Given the description of an element on the screen output the (x, y) to click on. 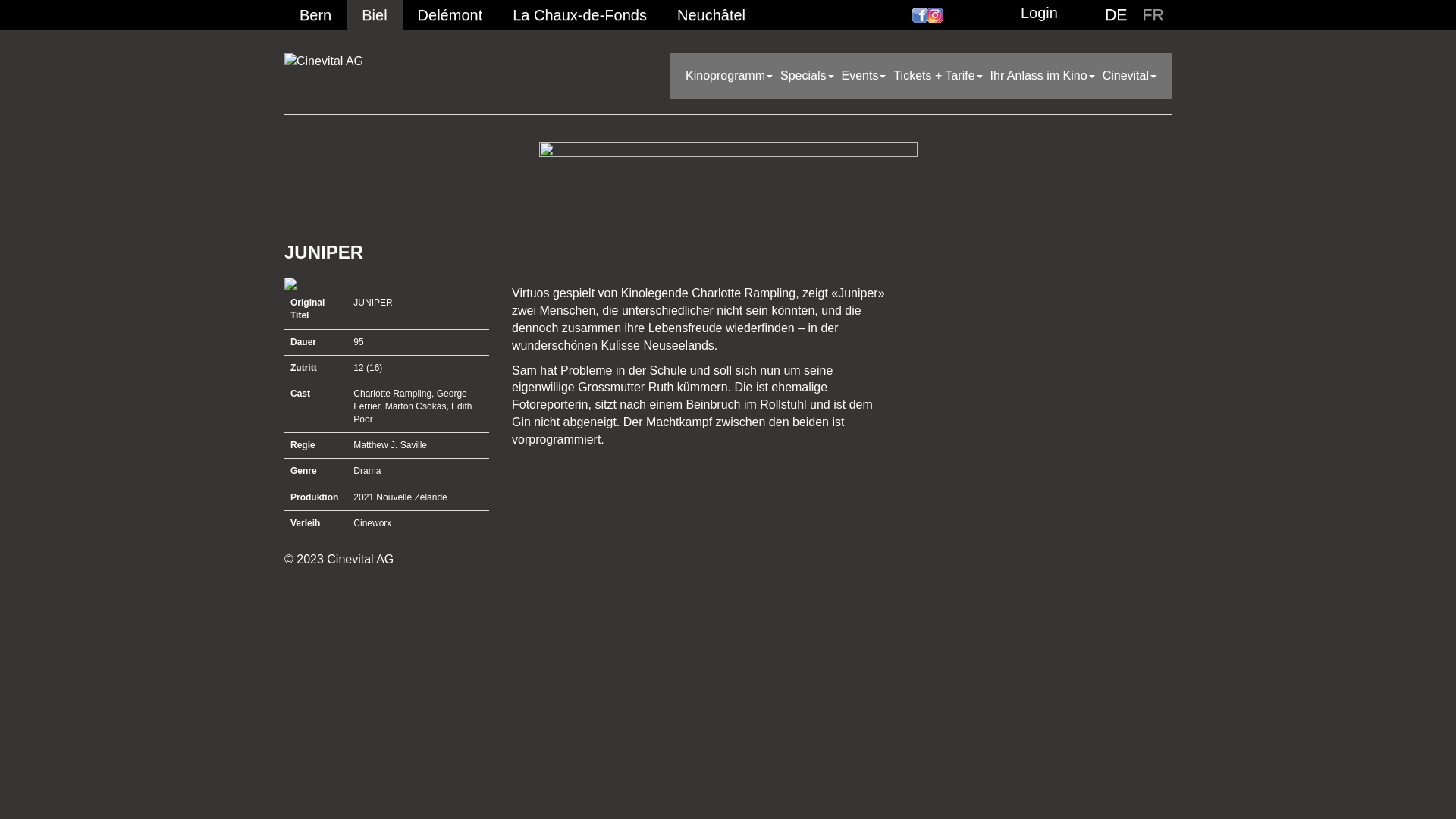
Tickets + Tarife Element type: text (937, 75)
Events Element type: text (863, 75)
La Chaux-de-Fonds Element type: text (579, 15)
Login Element type: text (1038, 13)
FR Element type: text (1153, 15)
Bern Element type: text (315, 15)
Cinevital Element type: text (1129, 75)
Ihr Anlass im Kino Element type: text (1042, 75)
Specials Element type: text (806, 75)
Kinoprogramm Element type: text (728, 75)
Biel Element type: text (373, 15)
DE Element type: text (1116, 15)
